Given the description of an element on the screen output the (x, y) to click on. 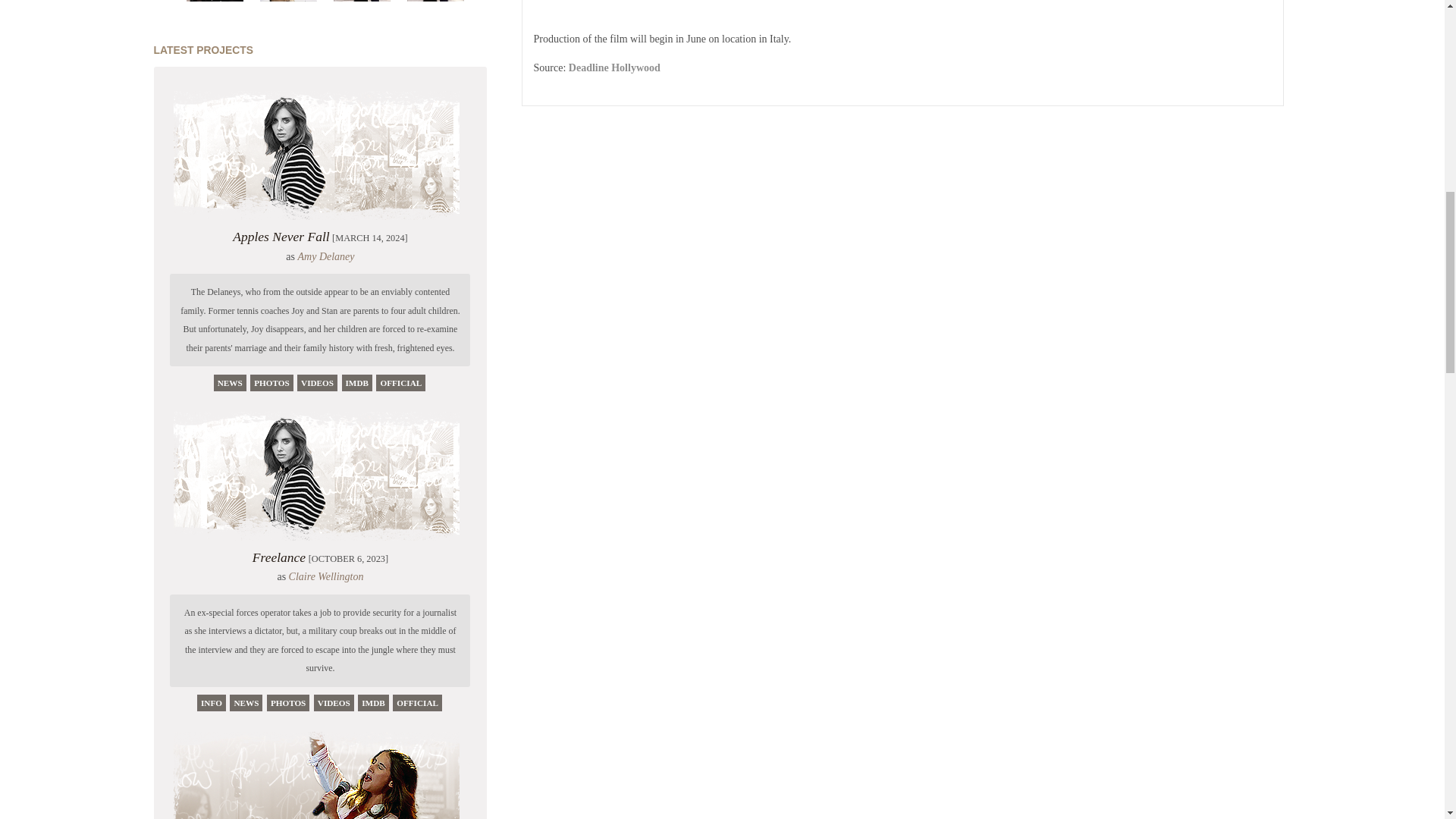
NEWS (230, 382)
PHOTOS (271, 382)
OFFICIAL (400, 382)
VIDEOS (317, 382)
0009.jpg (288, 3)
0010.jpg (361, 3)
PHOTOS (287, 702)
NEWS (246, 702)
INFO (210, 702)
IMDB (373, 702)
0011.jpg (435, 3)
VIDEOS (333, 702)
OFFICIAL (417, 702)
IMDB (357, 382)
